Given the description of an element on the screen output the (x, y) to click on. 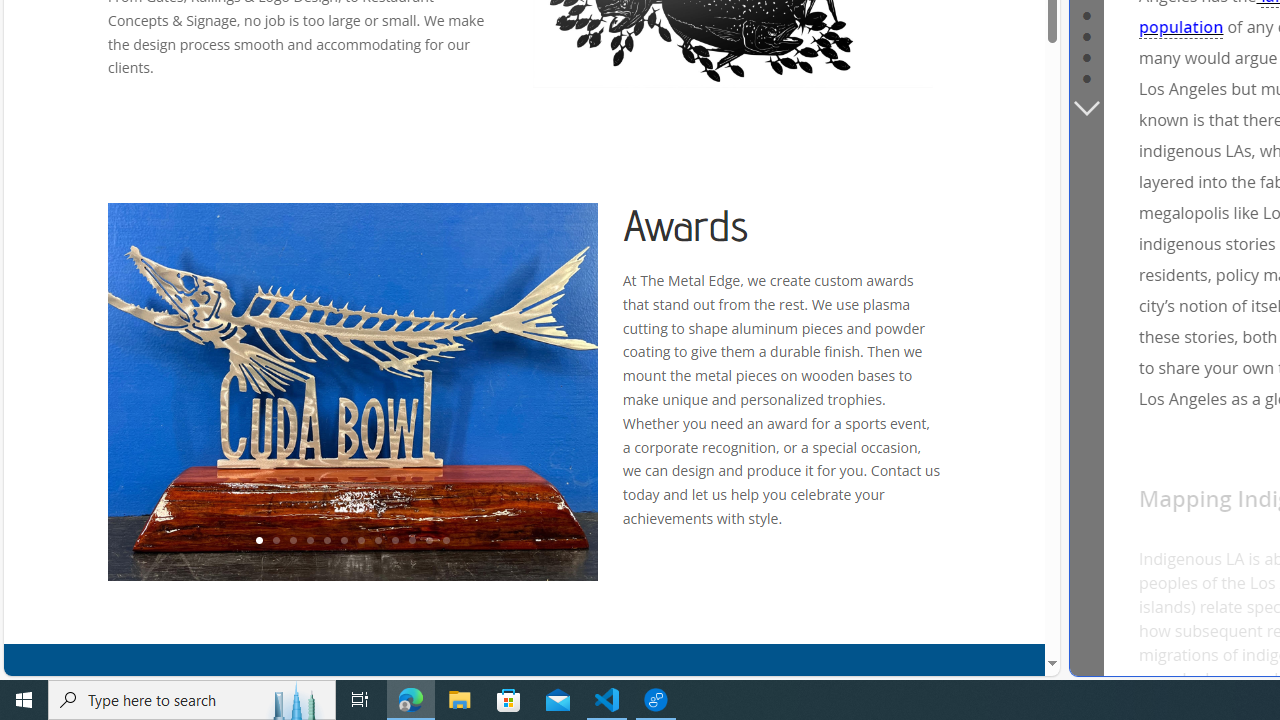
5 (326, 541)
Go to section 7: Latin American Indigenous Diasporas  (1086, 76)
8 (377, 541)
4 (309, 541)
1 (258, 541)
11 (428, 541)
10 (412, 541)
Go to section 4: Kuruvungna  (1086, 13)
Go to section 5: American Indians in Los Angeles  (1086, 34)
6 (344, 541)
9 (394, 541)
Go to section 6: Pacific Islanders of Los Angeles  (1086, 55)
Next section (1086, 106)
7 (360, 541)
3 (292, 541)
